Given the description of an element on the screen output the (x, y) to click on. 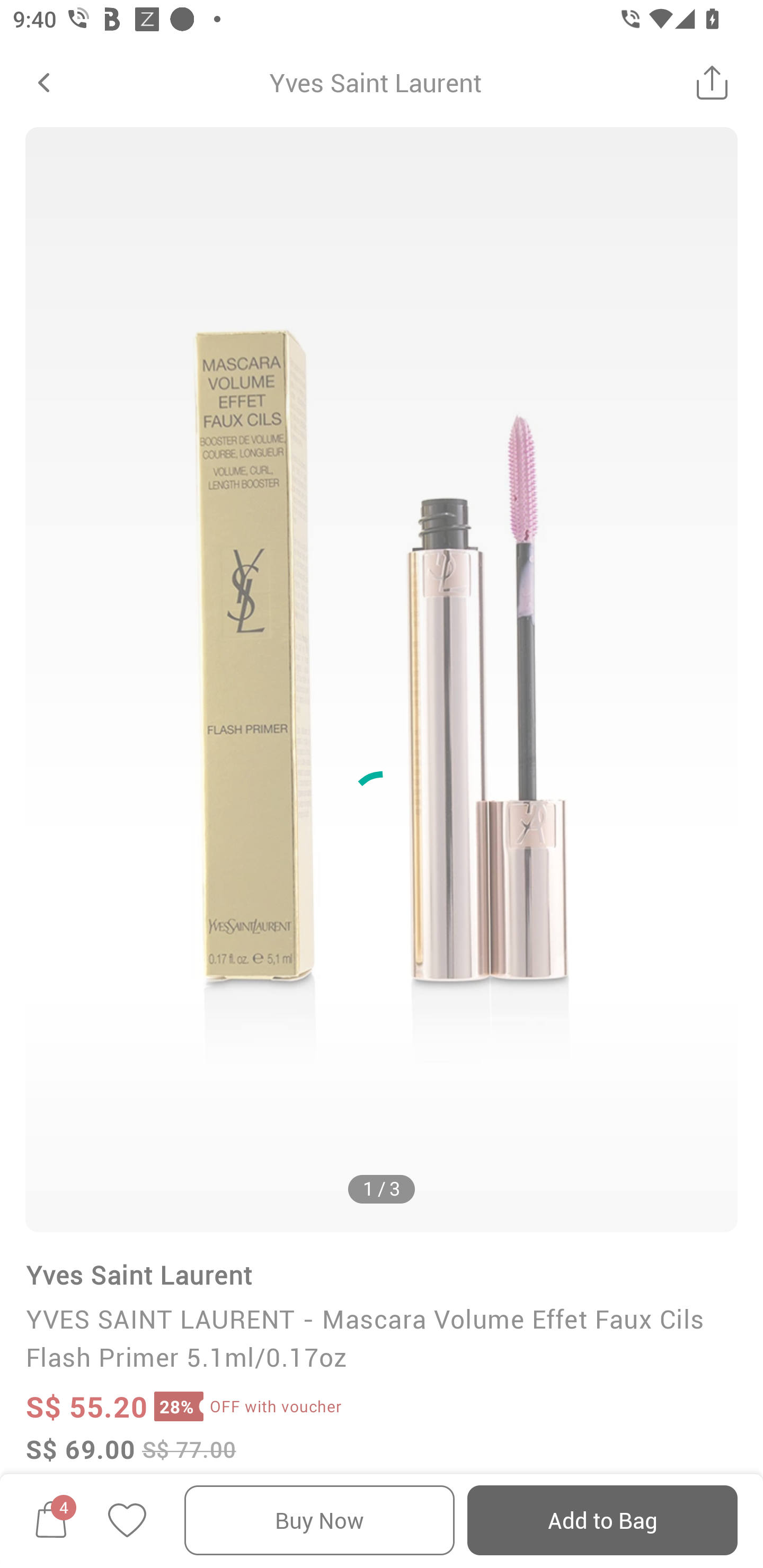
Yves Saint Laurent (375, 82)
Share this Product (711, 82)
Yves Saint Laurent (138, 1274)
Buy Now (319, 1519)
Add to Bag (601, 1519)
4 (50, 1520)
